Given the description of an element on the screen output the (x, y) to click on. 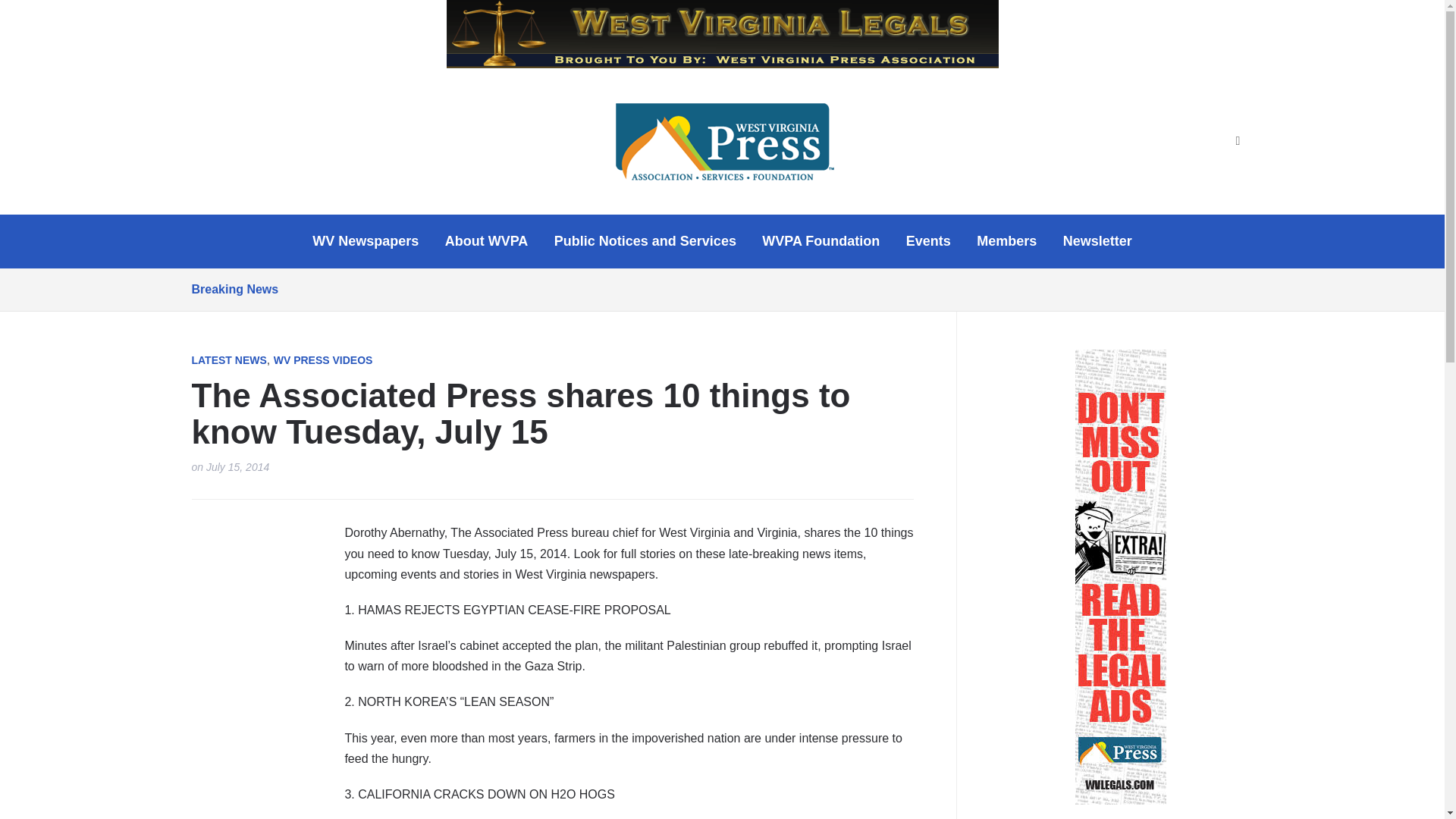
Search (1237, 141)
About WVPA (486, 241)
WV Newspapers (366, 241)
Public Notices and Services (645, 241)
